Given the description of an element on the screen output the (x, y) to click on. 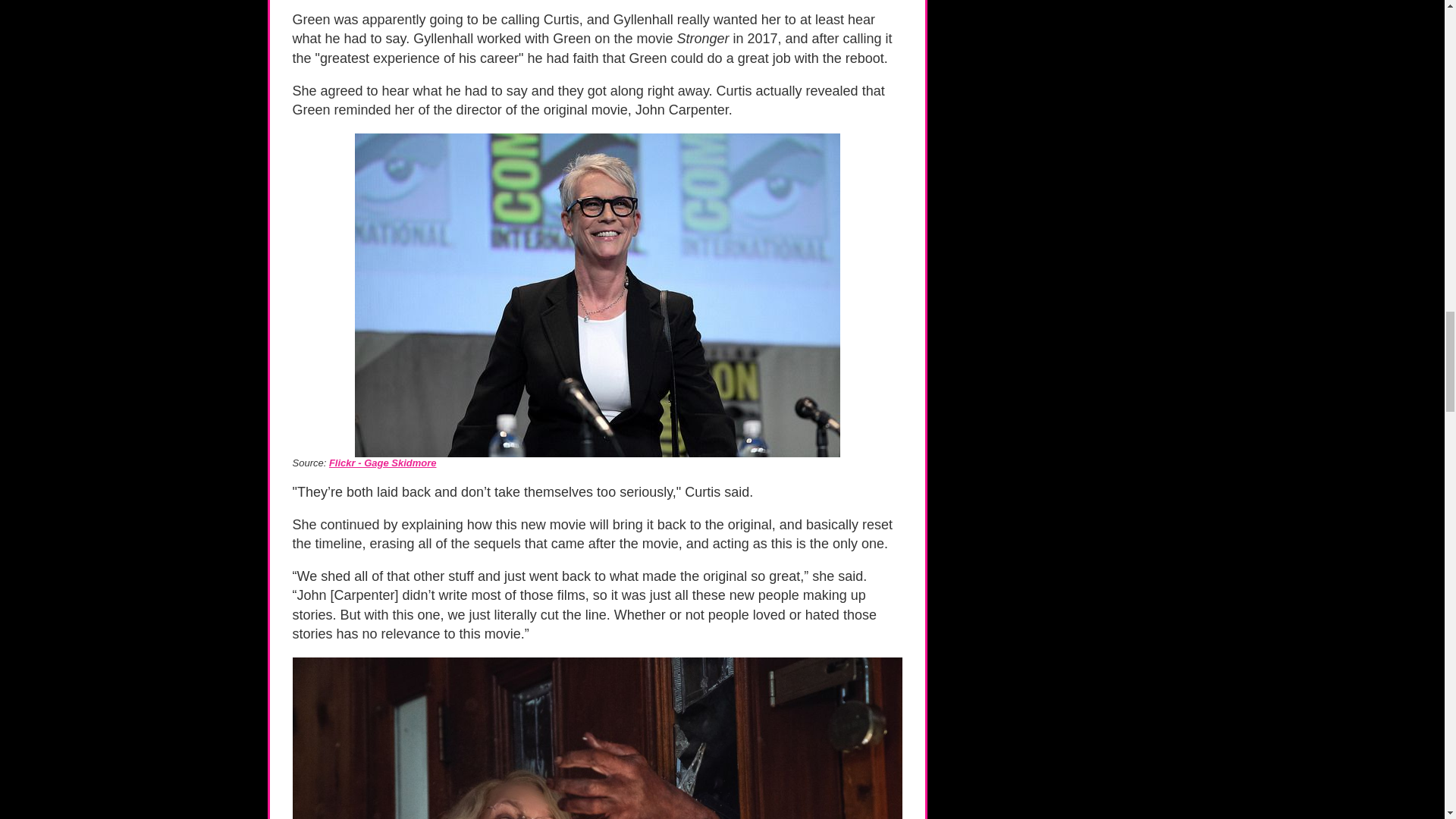
Jamie Lee Curtis Halloween (597, 738)
Flickr - Gage Skidmore (382, 462)
